Given the description of an element on the screen output the (x, y) to click on. 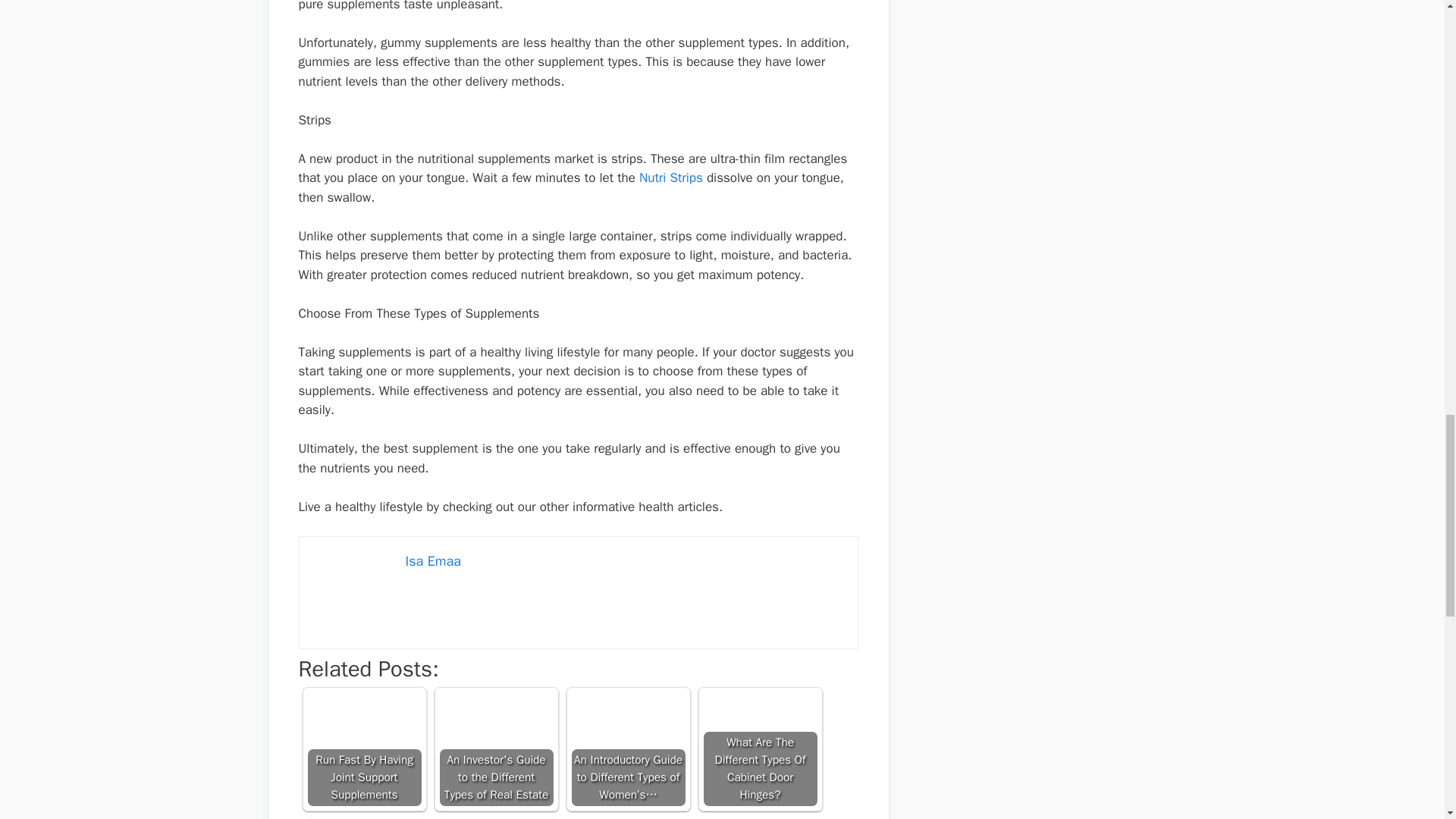
An Investor's Guide to the Different Types of Real Estate (496, 748)
What Are The Different Types Of Cabinet Door Hinges? (759, 748)
Run Fast By Having Joint Support Supplements (364, 748)
Isa Emaa (432, 560)
Run Fast By Having Joint Support Supplements (364, 748)
Nutri Strips (671, 177)
